Given the description of an element on the screen output the (x, y) to click on. 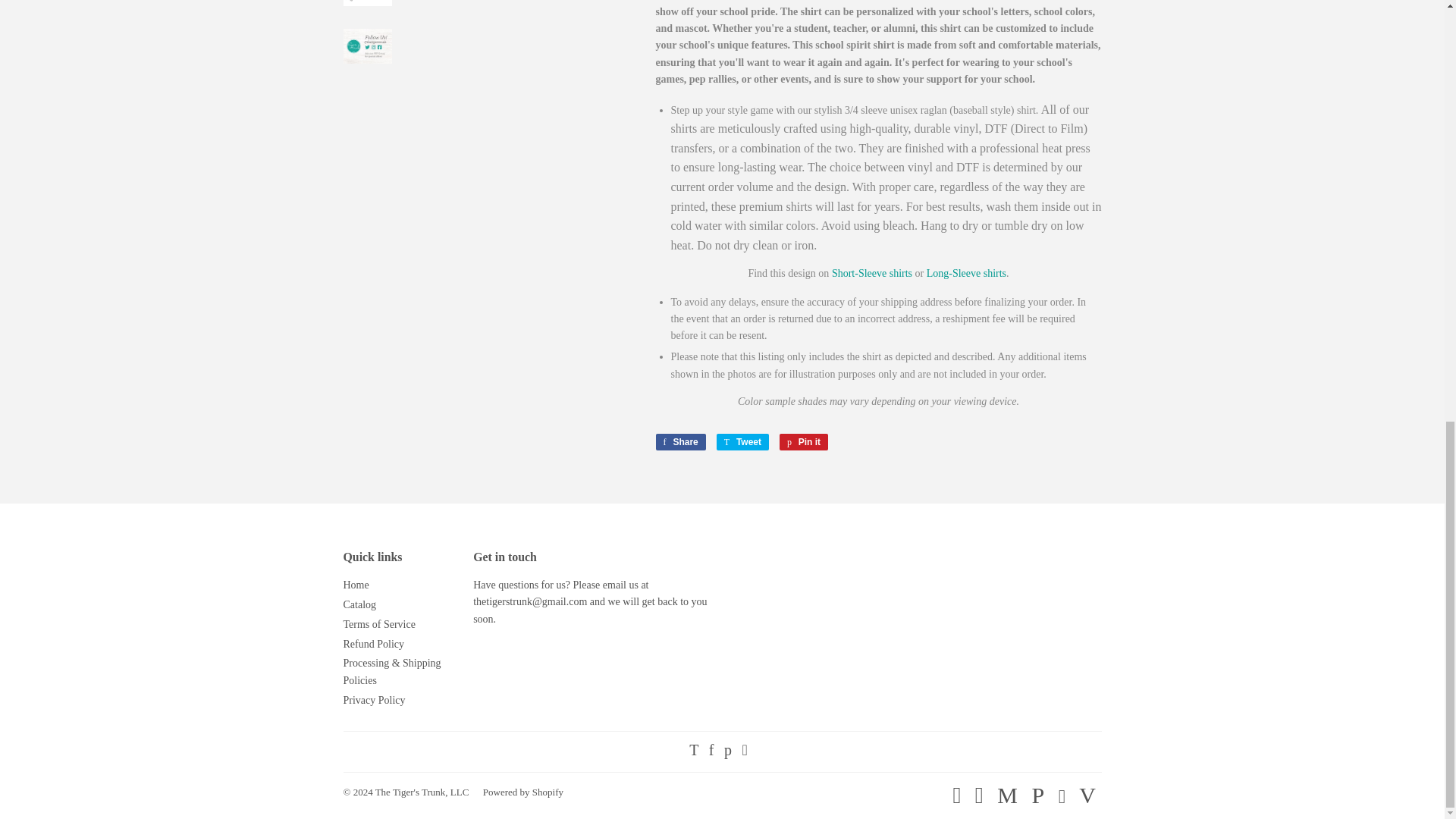
Pin on Pinterest (803, 442)
Team Spirit short-sleeve shirt (871, 273)
Team Spirit long-sleeve shirt (966, 273)
Share on Facebook (679, 442)
Tweet on Twitter (742, 442)
